Given the description of an element on the screen output the (x, y) to click on. 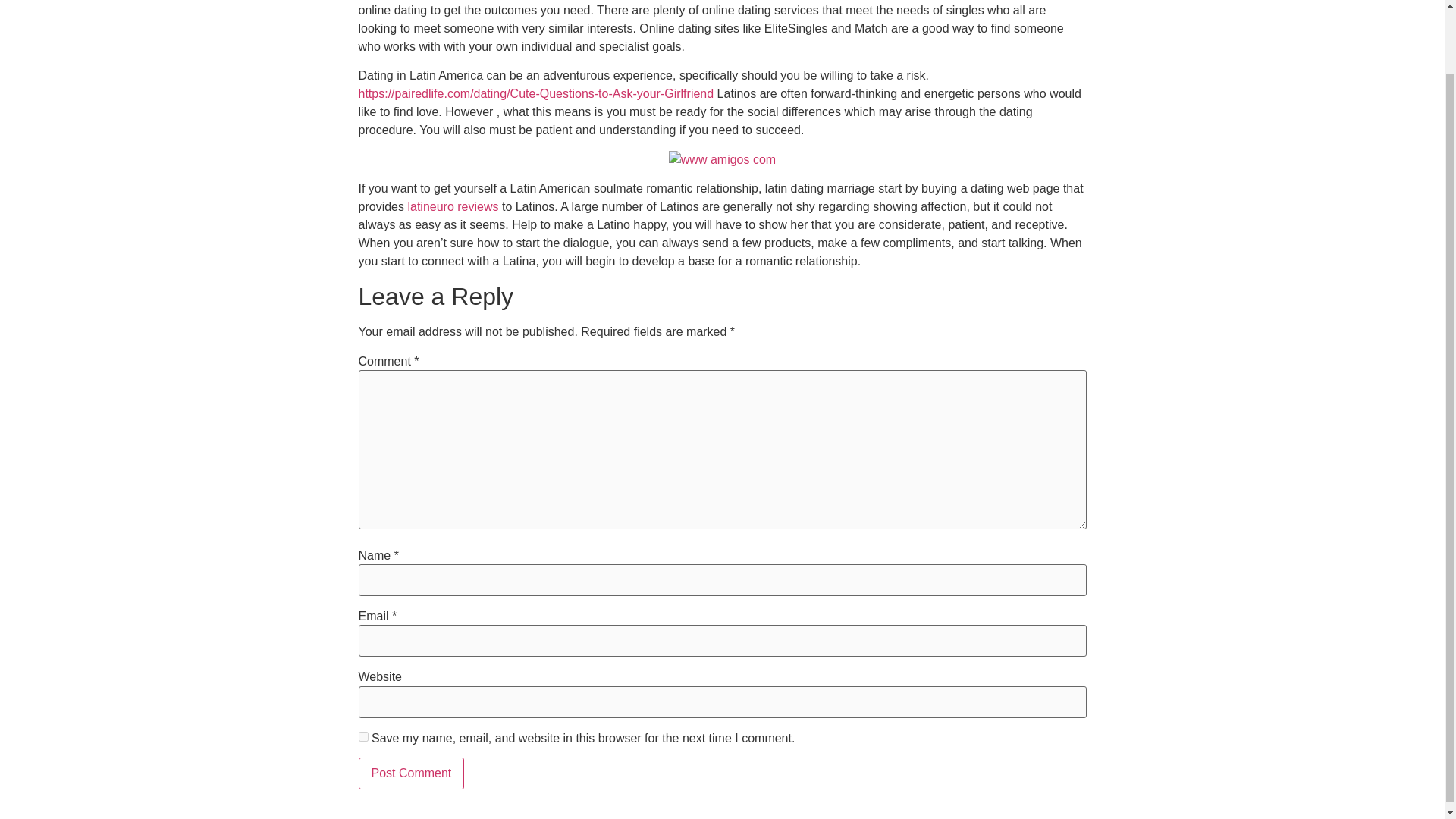
latineuro reviews (452, 205)
yes (363, 737)
Post Comment (411, 773)
Post Comment (411, 773)
